Given the description of an element on the screen output the (x, y) to click on. 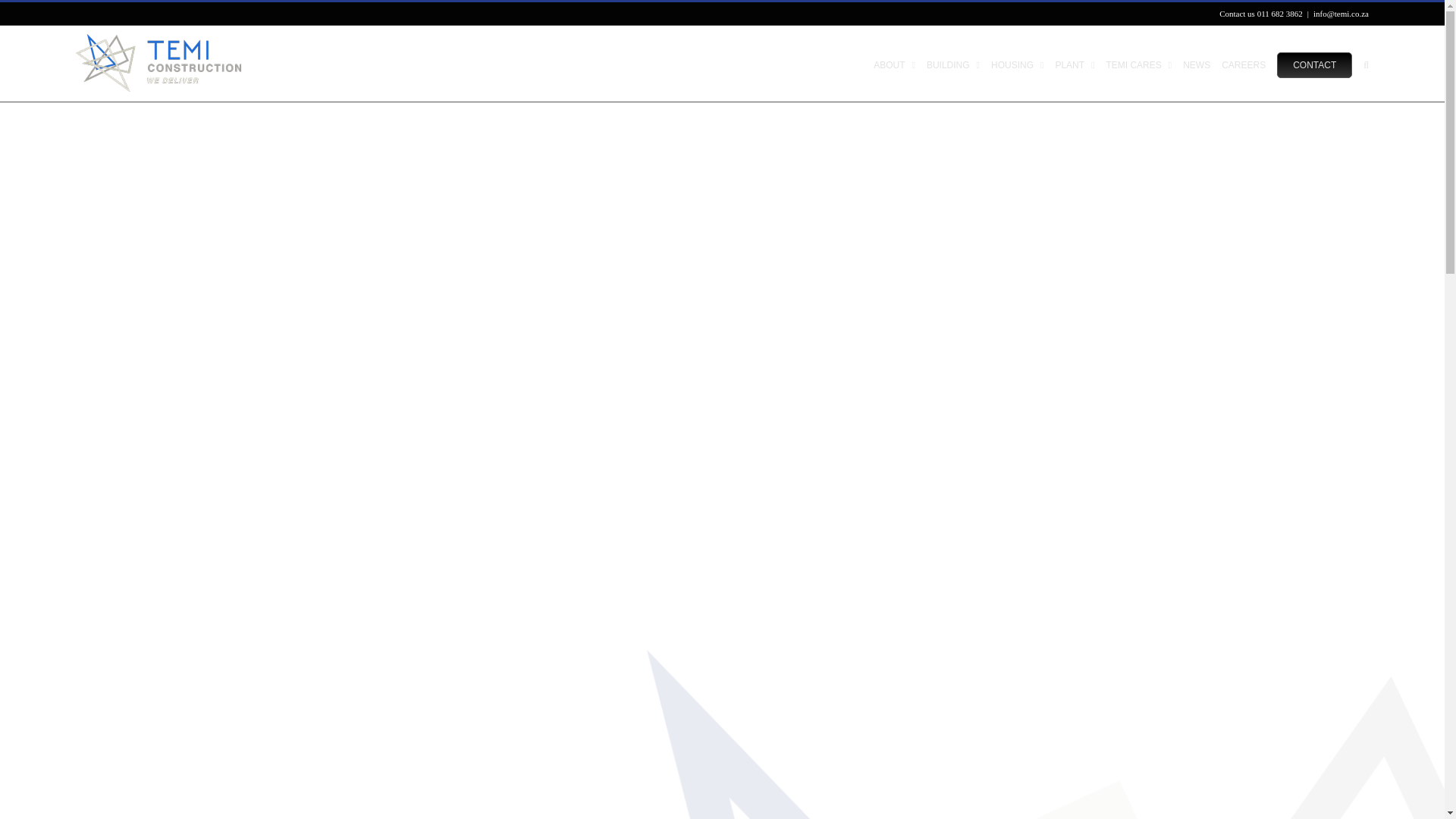
CONTACT (1314, 63)
TEMI CARES (1138, 63)
